Given the description of an element on the screen output the (x, y) to click on. 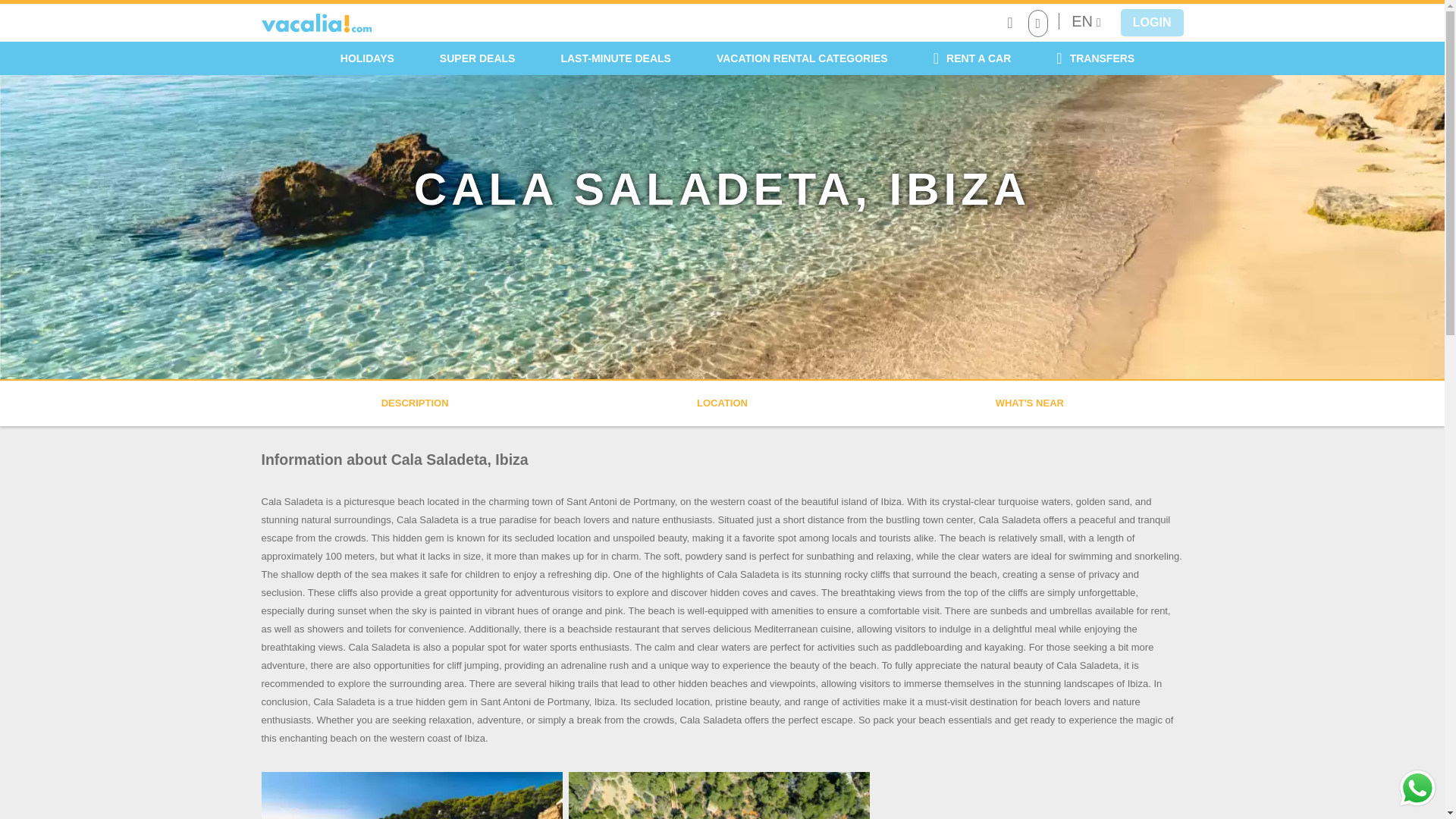
LAST-MINUTE DEALS (615, 58)
LOGIN (1152, 22)
LOCATION (722, 402)
TAILOR-MADE HOLIDAY RENTALS - Vacalia.com (315, 22)
TRANSFERS (1095, 58)
WHAT'S NEAR (1029, 402)
RENT A CAR (972, 58)
EN (1085, 21)
DESCRIPTION (414, 402)
SUPER DEALS (477, 58)
